Given the description of an element on the screen output the (x, y) to click on. 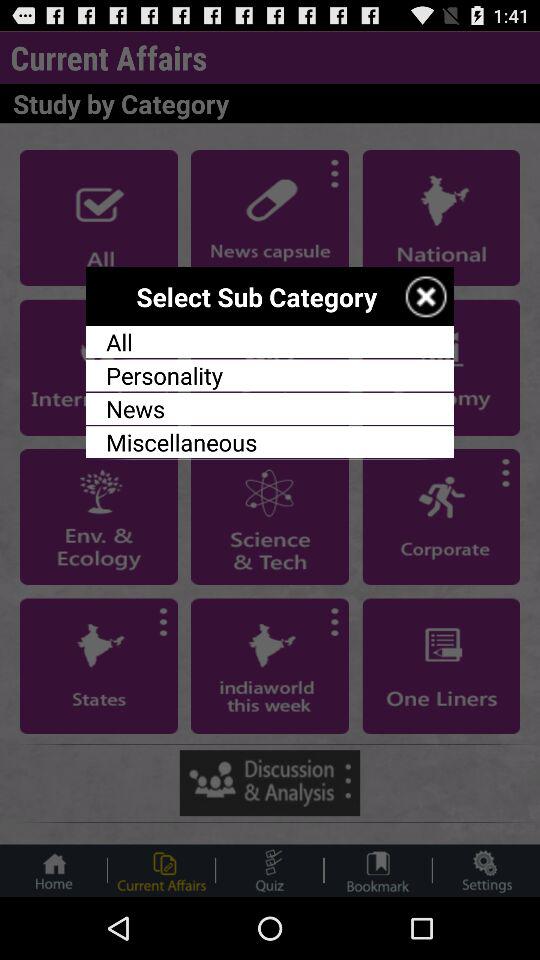
launch news icon (269, 408)
